Given the description of an element on the screen output the (x, y) to click on. 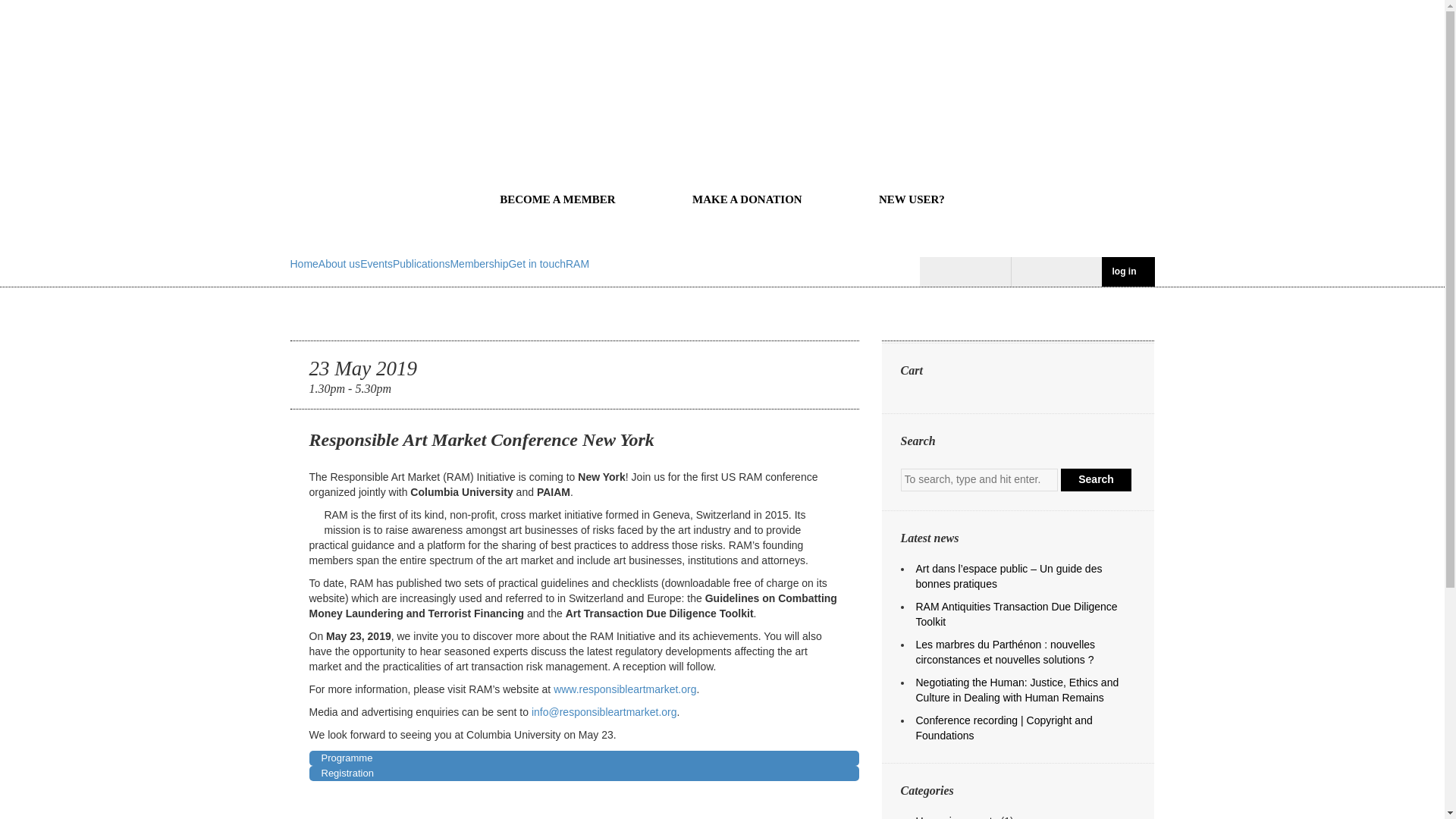
Search (1096, 479)
Membership (478, 264)
www.responsibleartmarket.org (624, 689)
log in (1127, 271)
Publications (421, 264)
RAM (577, 264)
MAKE A DONATION (747, 199)
BECOME A MEMBER (558, 199)
About us (338, 264)
Home (303, 264)
